Given the description of an element on the screen output the (x, y) to click on. 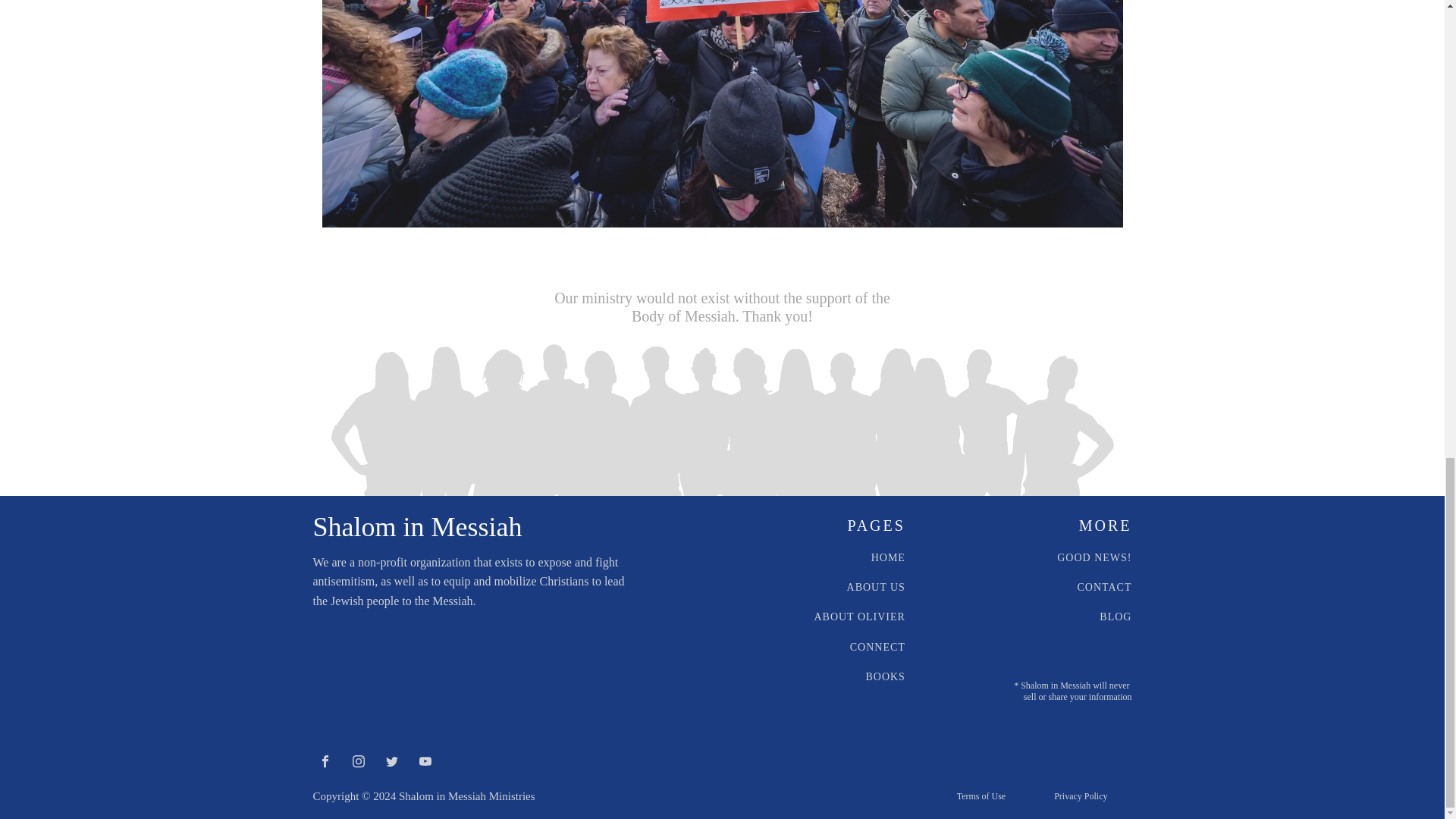
CONTACT (1104, 586)
Terms of Use (981, 796)
Privacy Policy (1080, 796)
ABOUT US (876, 586)
BLOG (1115, 616)
Shalom in Messiah (417, 527)
HOME (887, 557)
CONNECT (877, 646)
ABOUT OLIVIER (858, 616)
BOOKS (884, 676)
GOOD NEWS! (1094, 557)
